Given the description of an element on the screen output the (x, y) to click on. 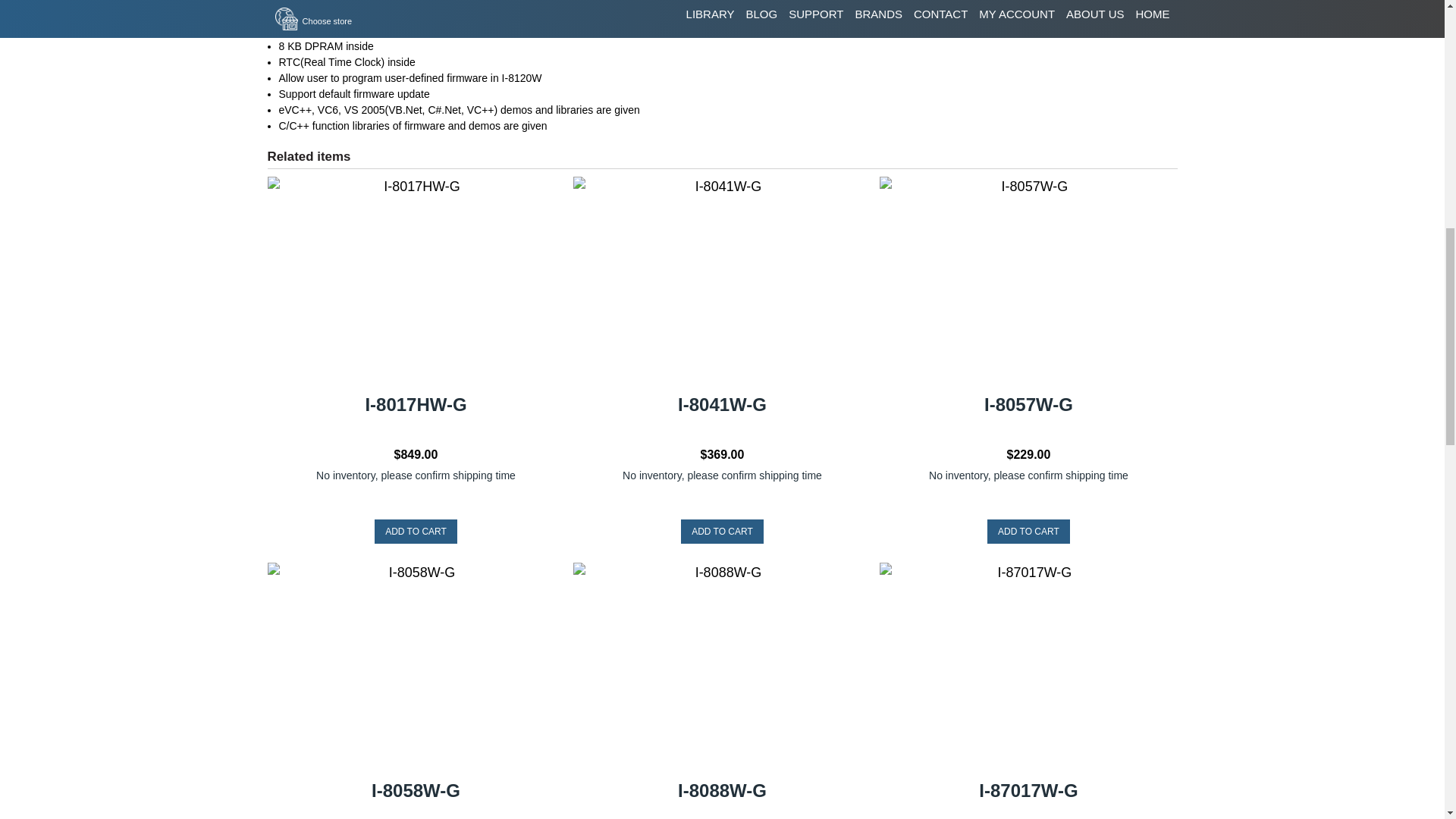
Add to cart (415, 531)
Add to cart (1028, 531)
Add to cart (721, 531)
